Given the description of an element on the screen output the (x, y) to click on. 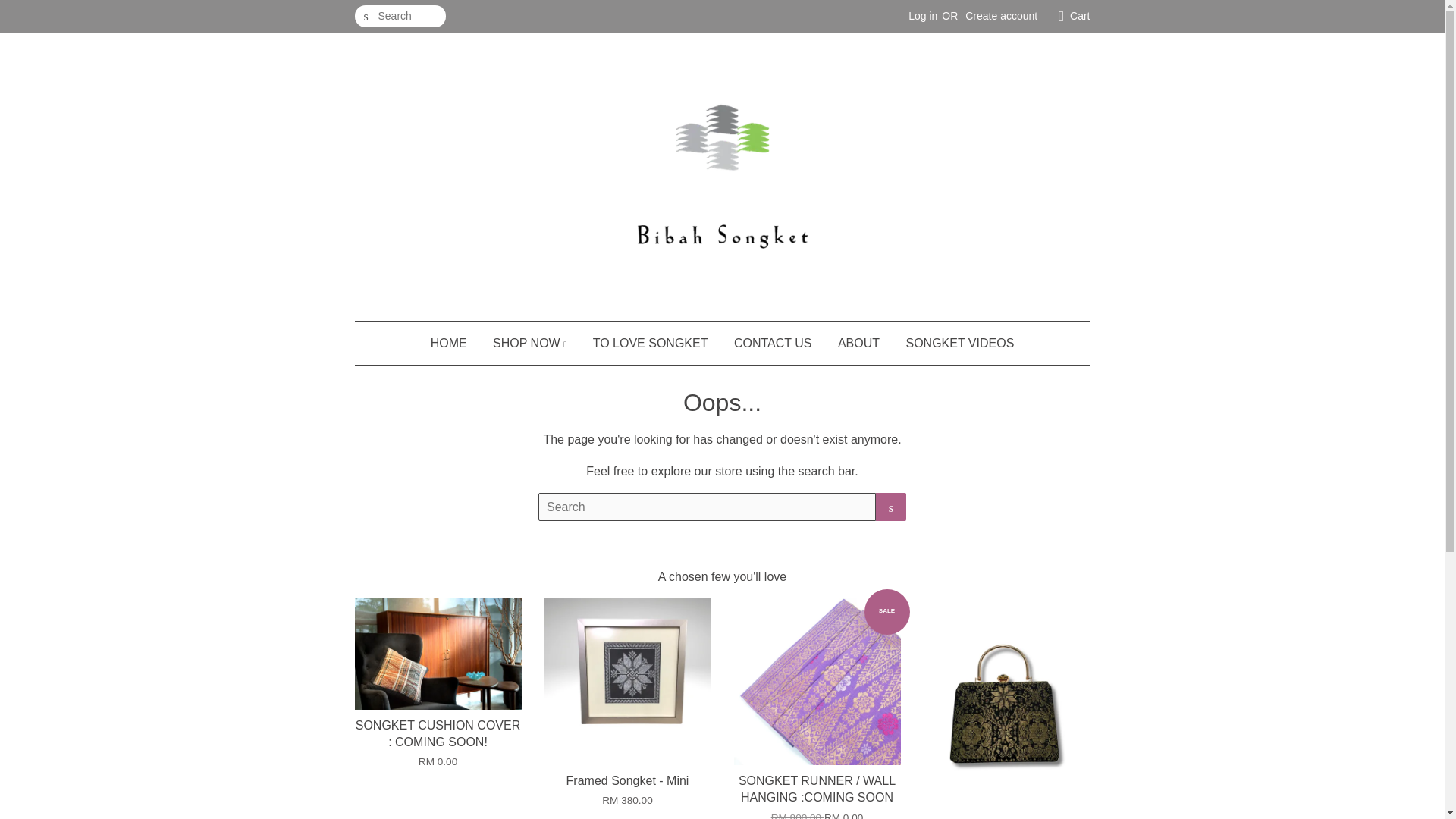
Search (366, 16)
SONGKET VIDEOS (953, 342)
CONTACT US (773, 342)
Log in (922, 15)
HOME (454, 342)
Create account (1000, 15)
Search (890, 506)
Cart (1079, 16)
SHOP NOW (529, 342)
TO LOVE SONGKET (649, 342)
